Given the description of an element on the screen output the (x, y) to click on. 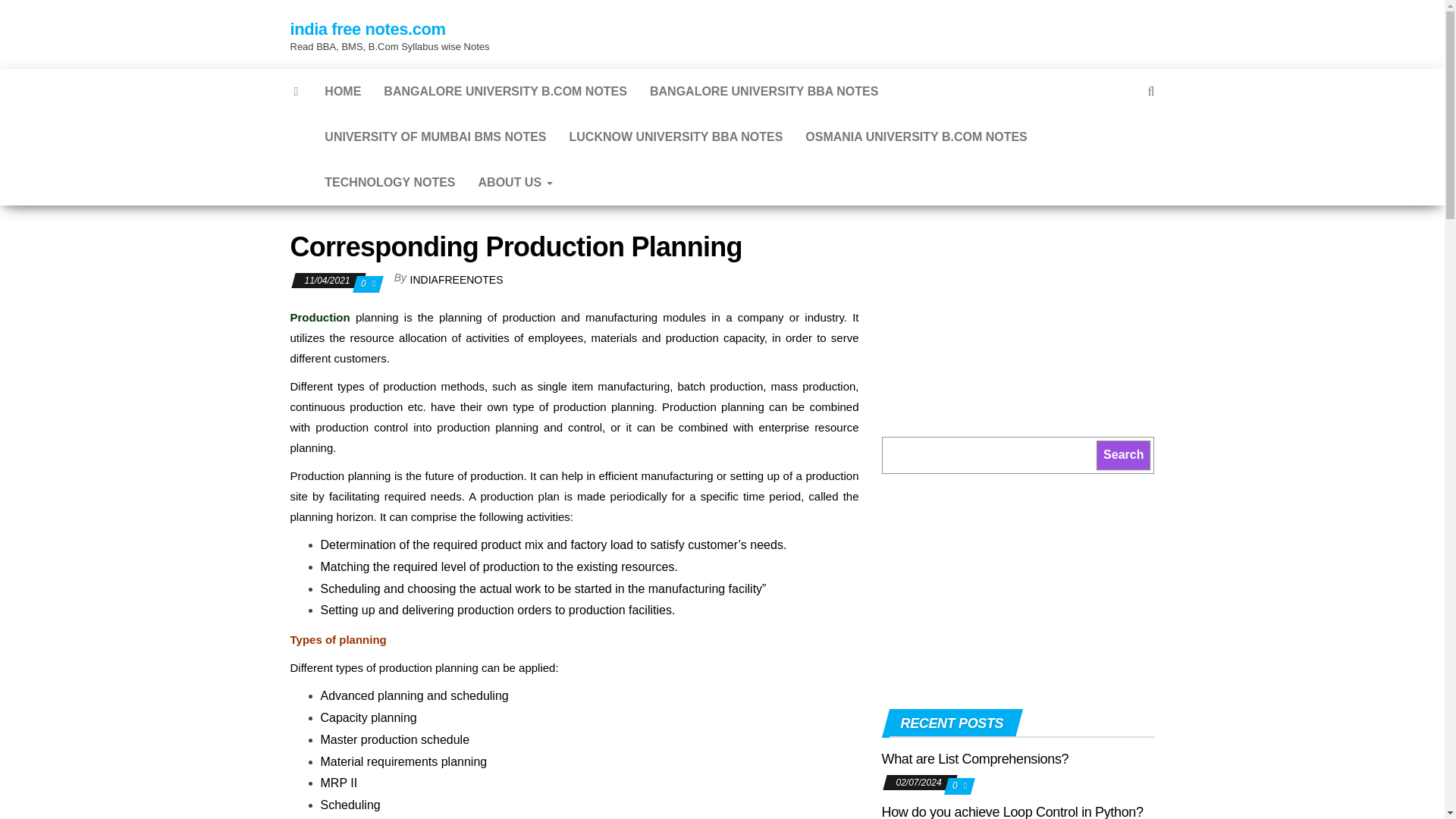
BANGALORE UNIVERSITY B.COM NOTES (505, 91)
india free notes.com (367, 28)
Osmania University B.com Notes (915, 136)
0 (364, 283)
BANGALORE UNIVERSITY BBA NOTES (764, 91)
OSMANIA UNIVERSITY B.COM NOTES (915, 136)
About Us (515, 182)
Home (342, 91)
india free notes.com (296, 91)
Lucknow University BBA Notes (675, 136)
HOME (342, 91)
Technology Notes (389, 182)
Bangalore University B.Com Notes (505, 91)
ABOUT US (515, 182)
Bangalore University BBA Notes (764, 91)
